Given the description of an element on the screen output the (x, y) to click on. 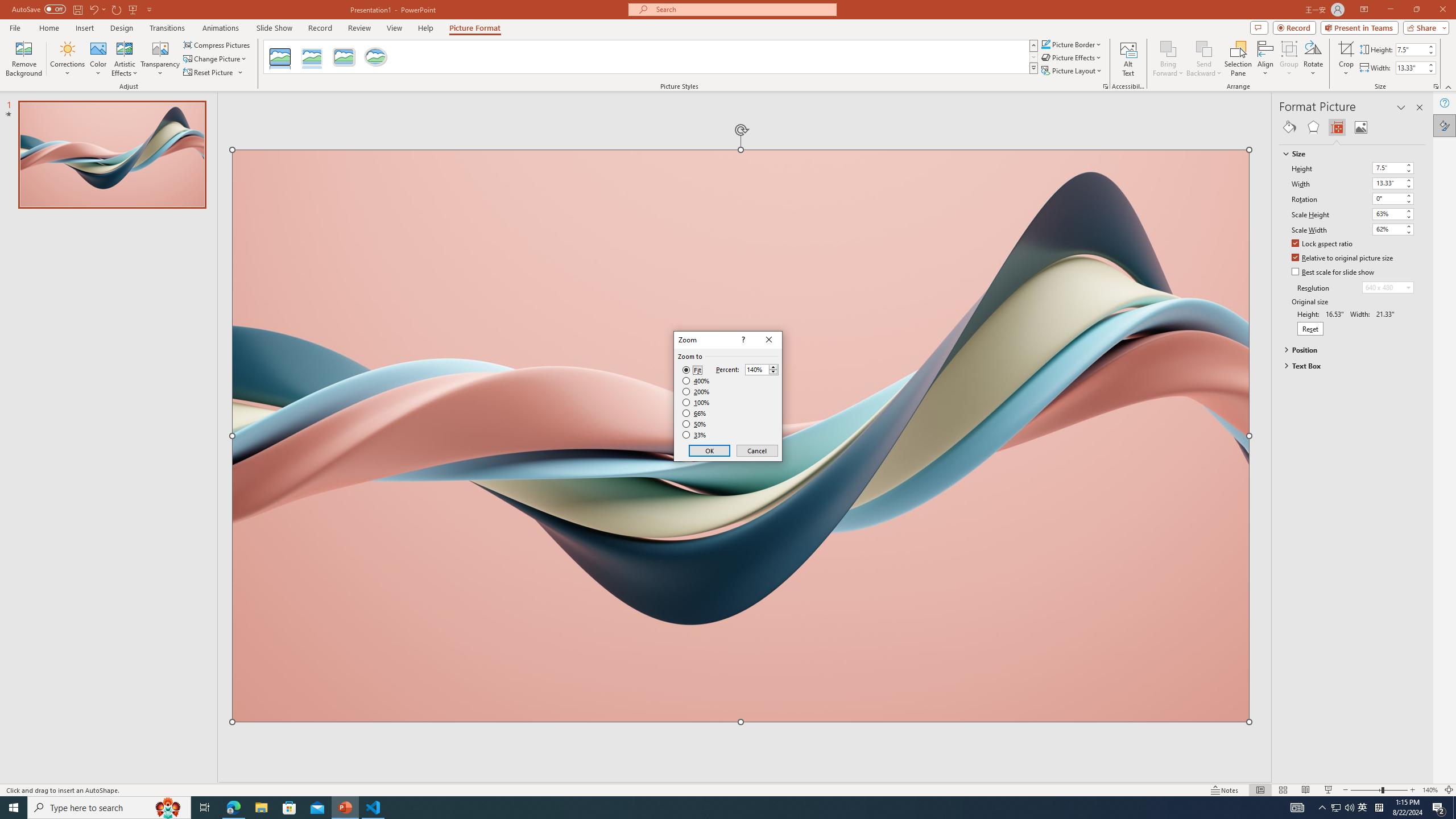
Bring Forward (1168, 48)
Picture Effects (1072, 56)
400% (696, 380)
Fill & Line (1288, 126)
Class: NetUIGalleryContainer (1352, 126)
